Given the description of an element on the screen output the (x, y) to click on. 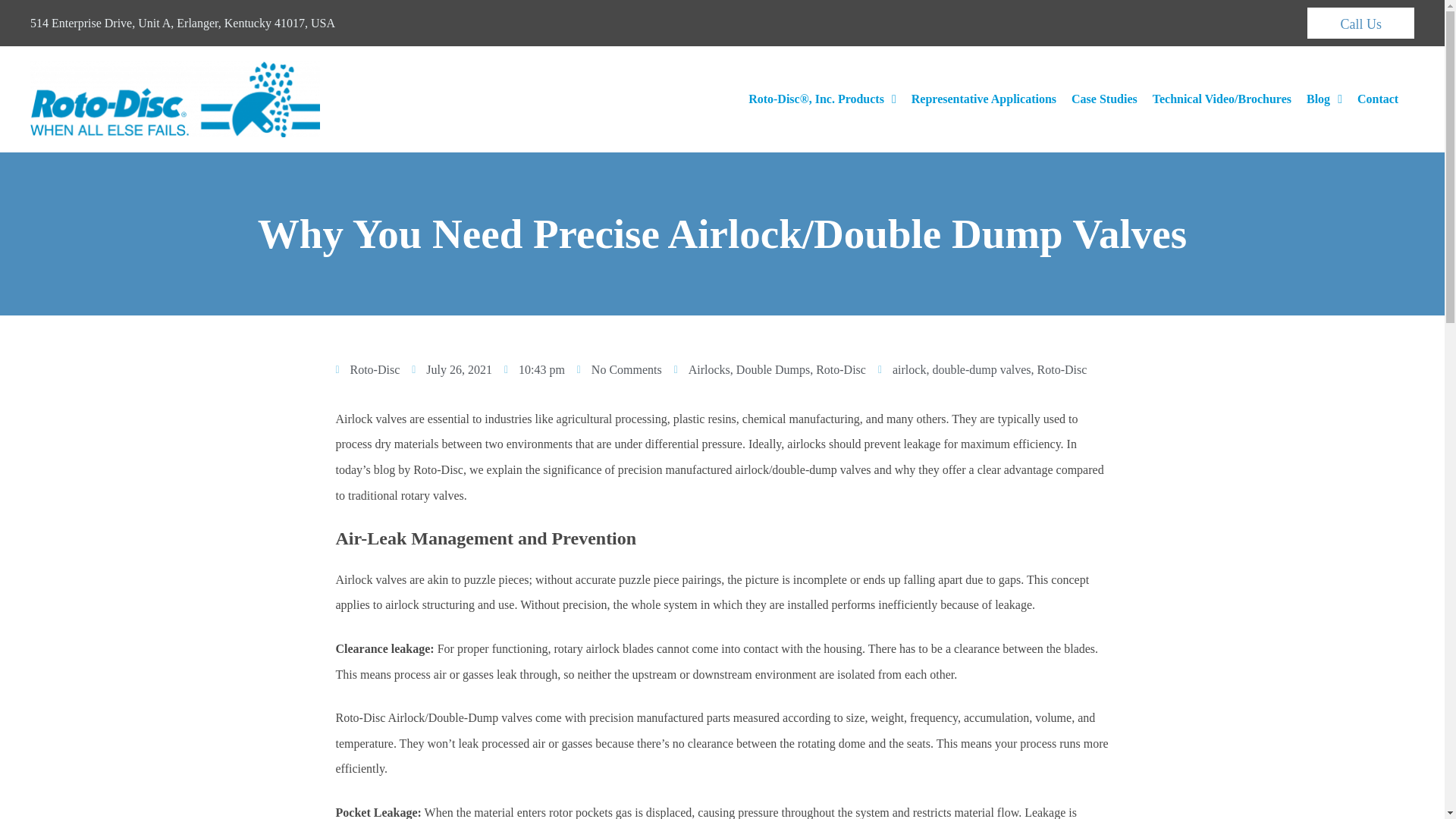
Case Studies (1104, 99)
Call Us (1360, 22)
Blog (1323, 99)
Contact (1377, 99)
514 Enterprise Drive, Unit A, Erlanger, Kentucky 41017, USA (182, 22)
Representative Applications (984, 99)
